Given the description of an element on the screen output the (x, y) to click on. 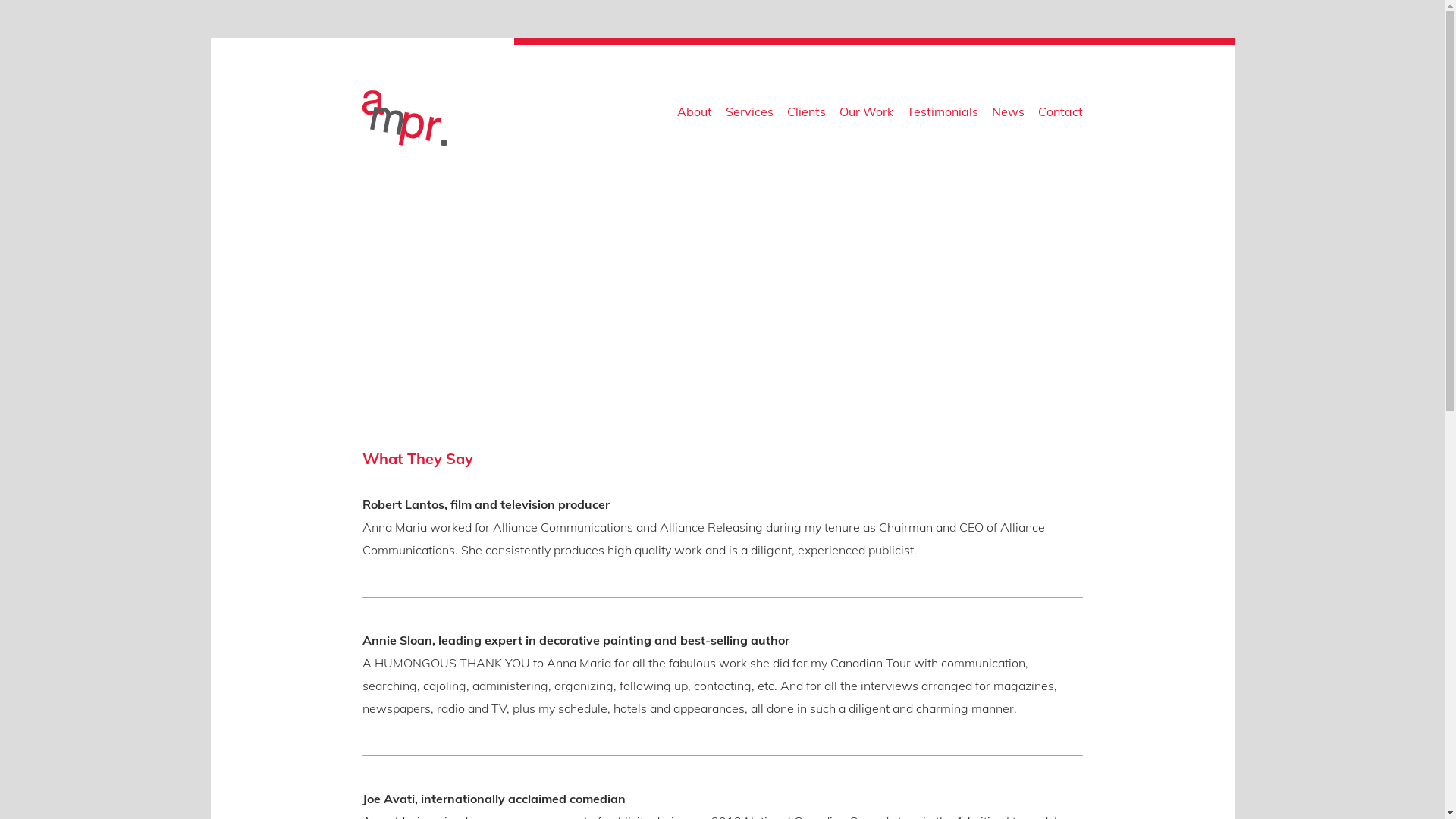
Testimonials Element type: text (942, 114)
News Element type: text (1007, 114)
About Element type: text (693, 114)
Contact Element type: text (1059, 114)
Clients Element type: text (806, 114)
Services Element type: text (748, 114)
Our Work Element type: text (865, 114)
